Given the description of an element on the screen output the (x, y) to click on. 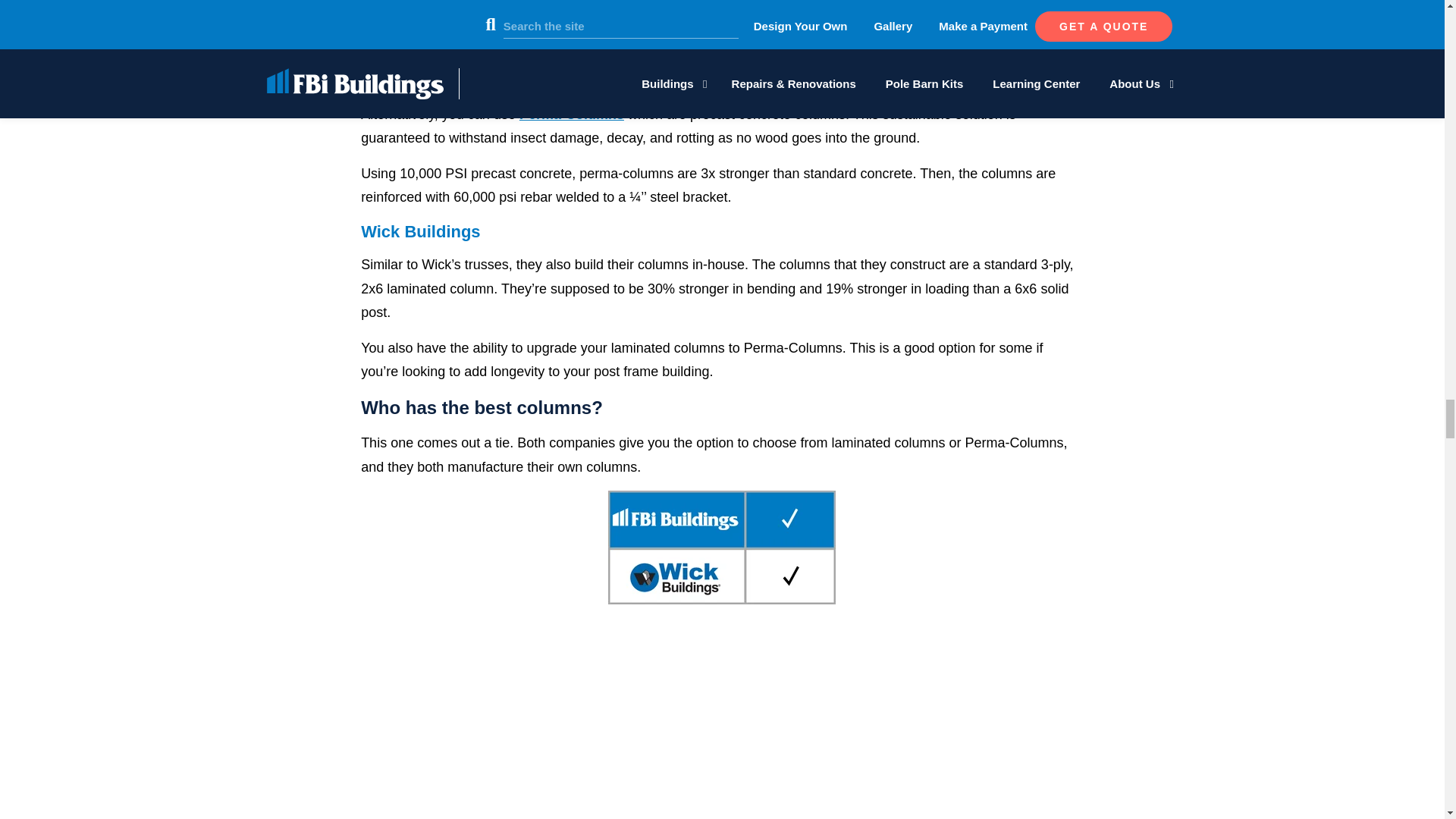
Pole Barn Foundation Options (722, 725)
